Given the description of an element on the screen output the (x, y) to click on. 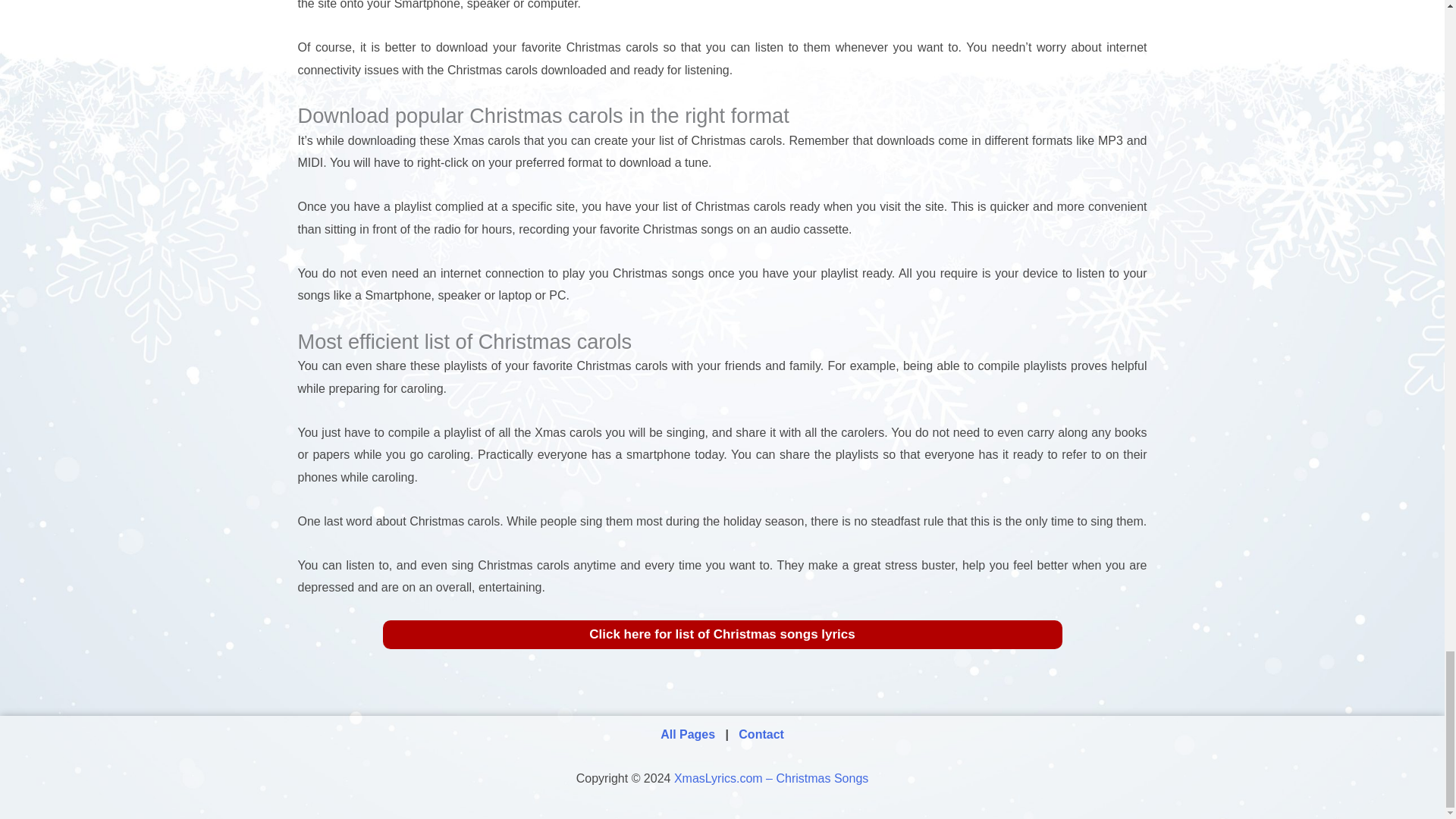
Contact (761, 734)
All Pages  (689, 734)
Click here for list of Christmas songs lyrics (721, 634)
